Given the description of an element on the screen output the (x, y) to click on. 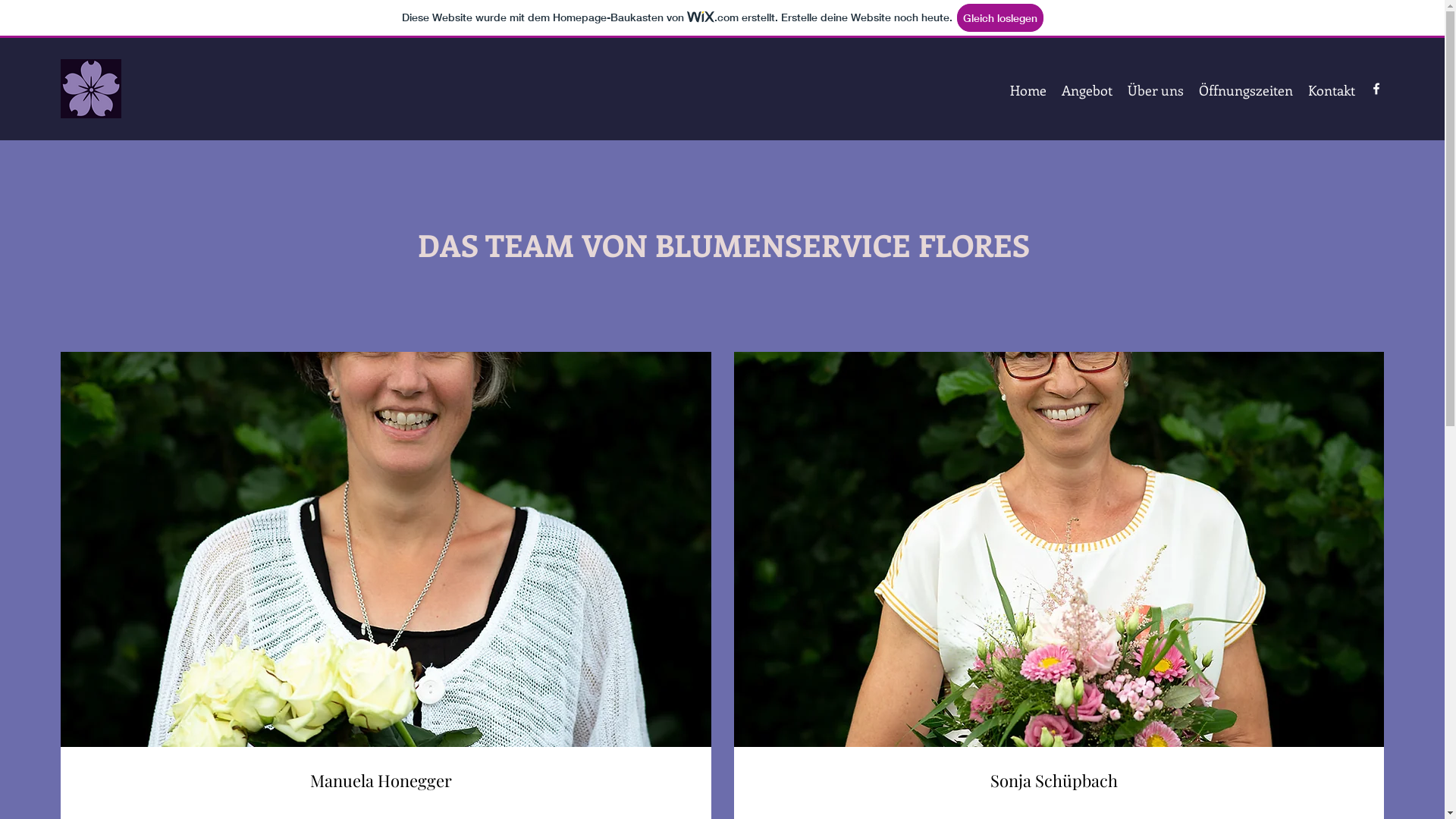
Kontakt Element type: text (1331, 90)
Angebot Element type: text (1087, 90)
Home Element type: text (1028, 90)
